Given the description of an element on the screen output the (x, y) to click on. 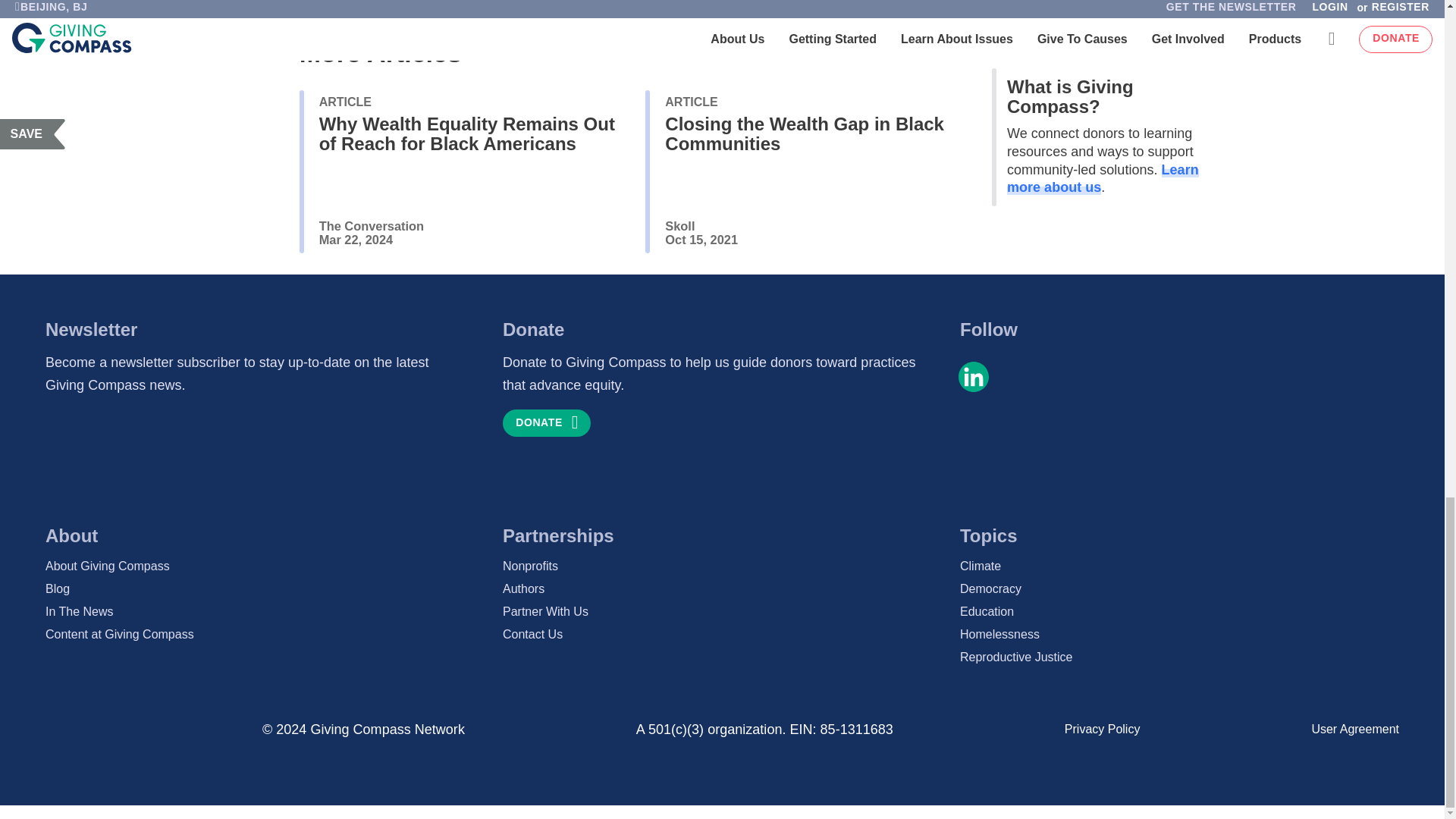
Form 0 (254, 458)
Nonprofits (722, 566)
Blog (264, 589)
Race and Ethnicity (537, 0)
Education (1179, 611)
Authors (722, 589)
About Giving Compass (264, 566)
Climate (1179, 566)
Reproductive Justice (1179, 657)
In The News (264, 611)
Civil Society (424, 0)
DONATE (546, 422)
Democracy (1179, 589)
